Given the description of an element on the screen output the (x, y) to click on. 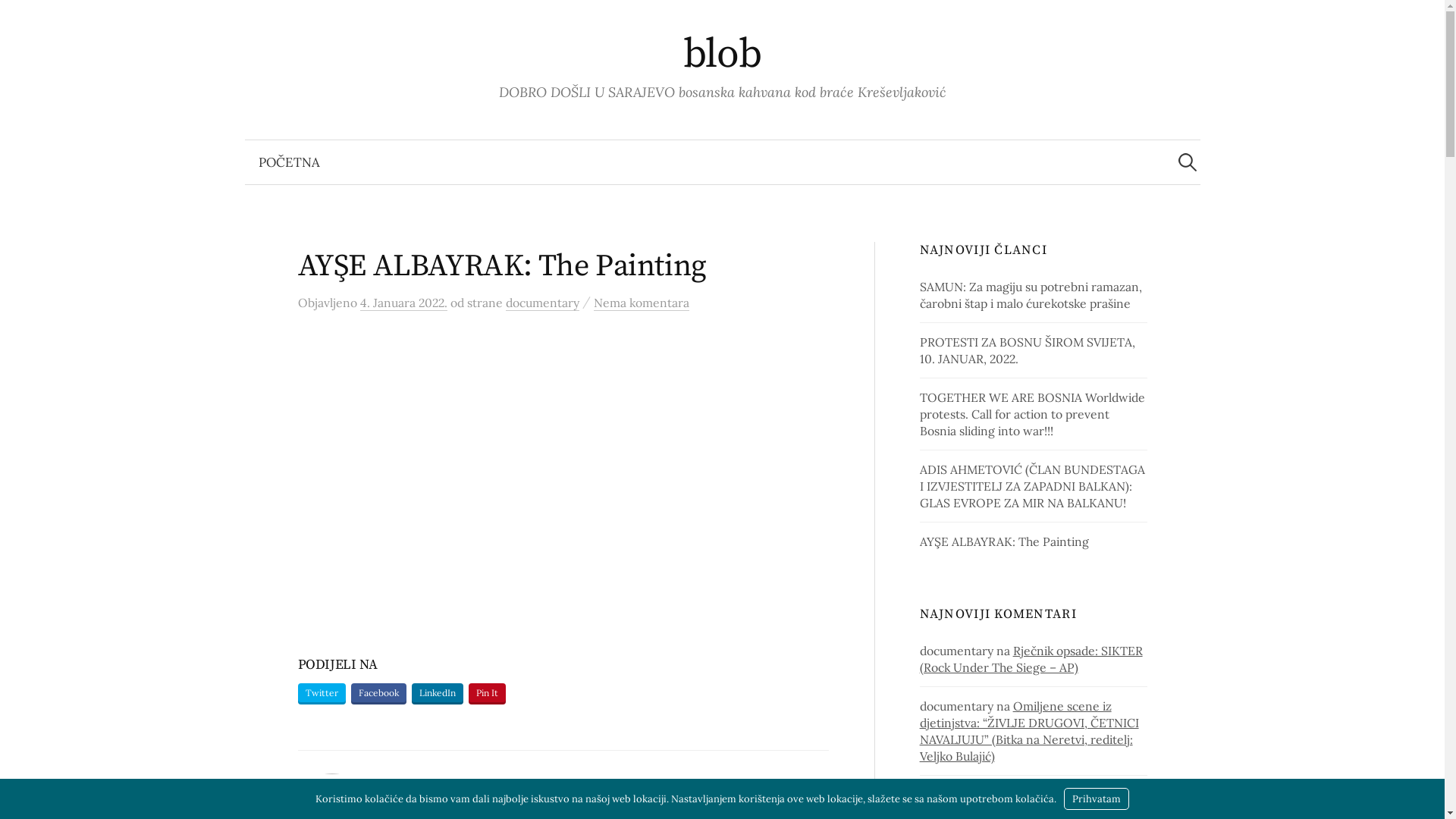
4. Januara 2022. Element type: text (402, 302)
Pretraga Element type: text (18, 18)
Prihvatam Element type: text (1096, 798)
Twitter Element type: text (321, 693)
blob Element type: text (722, 54)
documentary Element type: text (541, 302)
Facebook Element type: text (377, 693)
Pin It Element type: text (486, 693)
LinkedIn Element type: text (436, 693)
